Given the description of an element on the screen output the (x, y) to click on. 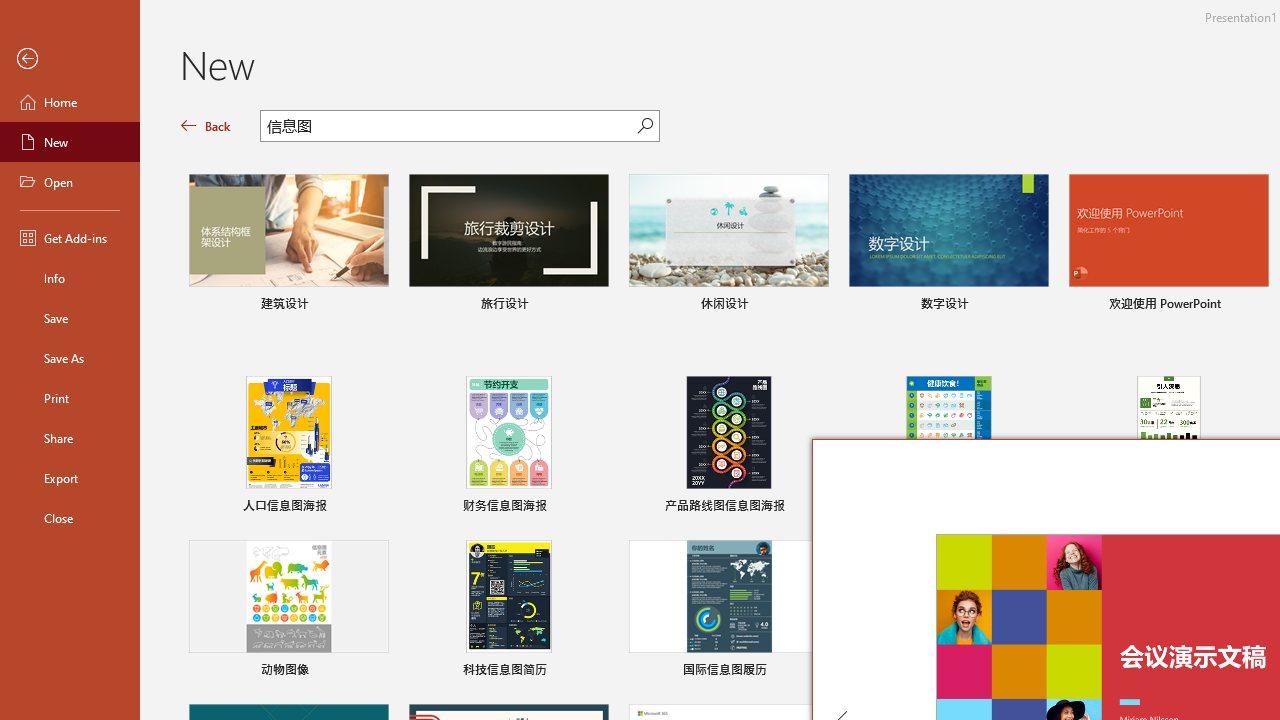
Print (69, 398)
Open (69, 182)
Back (205, 125)
Export (69, 477)
Start searching (645, 125)
